Given the description of an element on the screen output the (x, y) to click on. 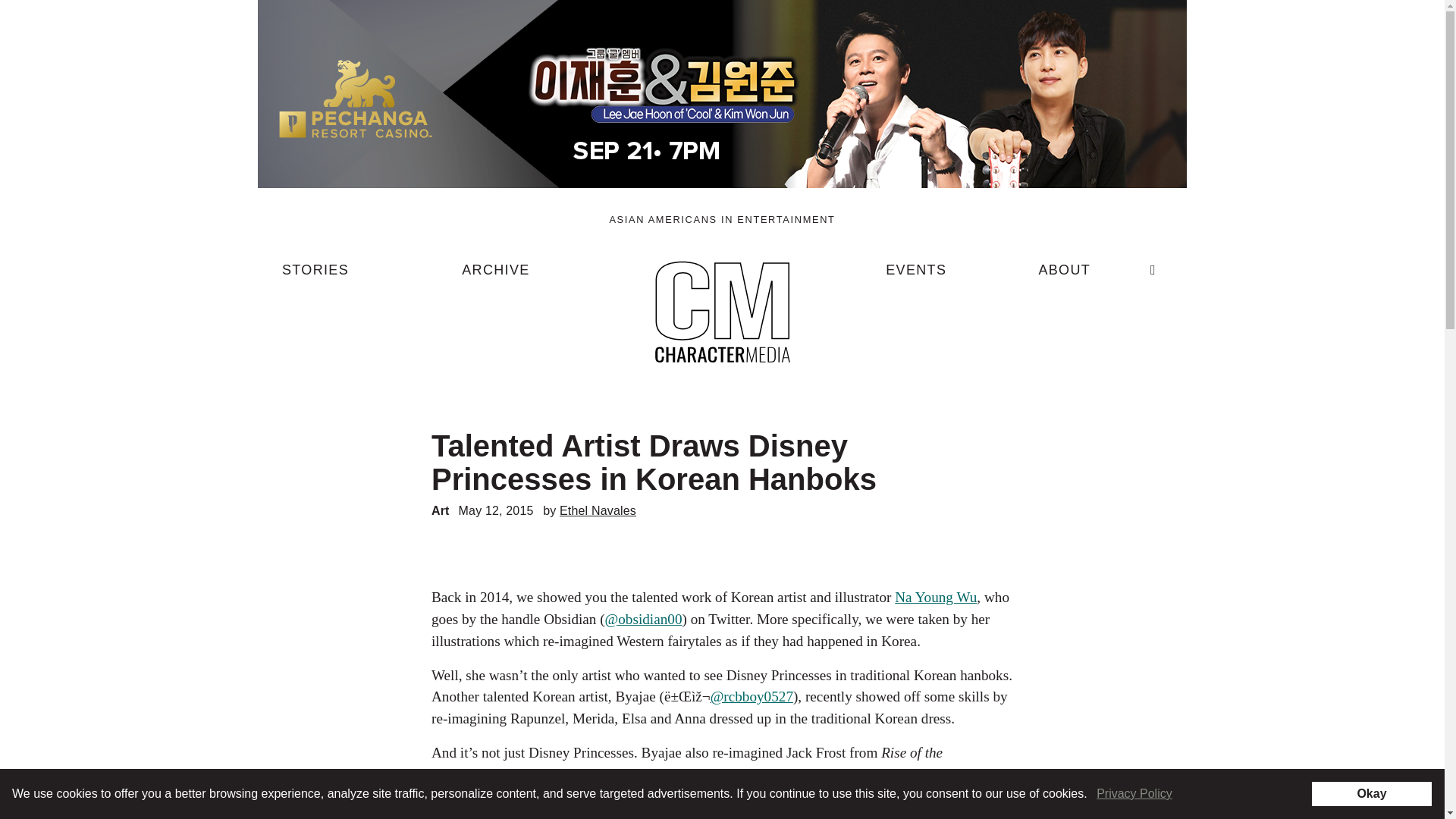
Art (439, 510)
Ethel Navales (597, 510)
STORIES (315, 276)
Na Young Wu (935, 596)
EVENTS (915, 276)
ARCHIVE (495, 276)
ABOUT (1064, 276)
